Given the description of an element on the screen output the (x, y) to click on. 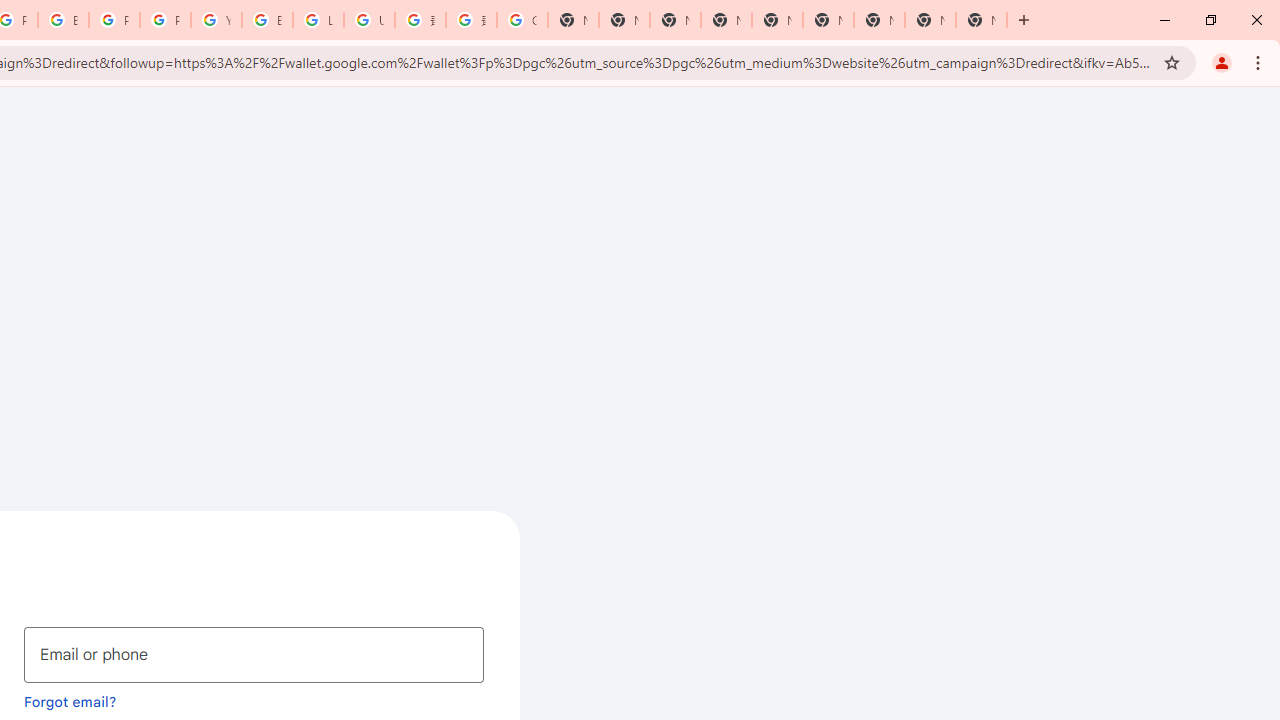
Forgot email? (70, 701)
New Tab (981, 20)
Google Images (521, 20)
YouTube (215, 20)
New Tab (726, 20)
New Tab (878, 20)
